Given the description of an element on the screen output the (x, y) to click on. 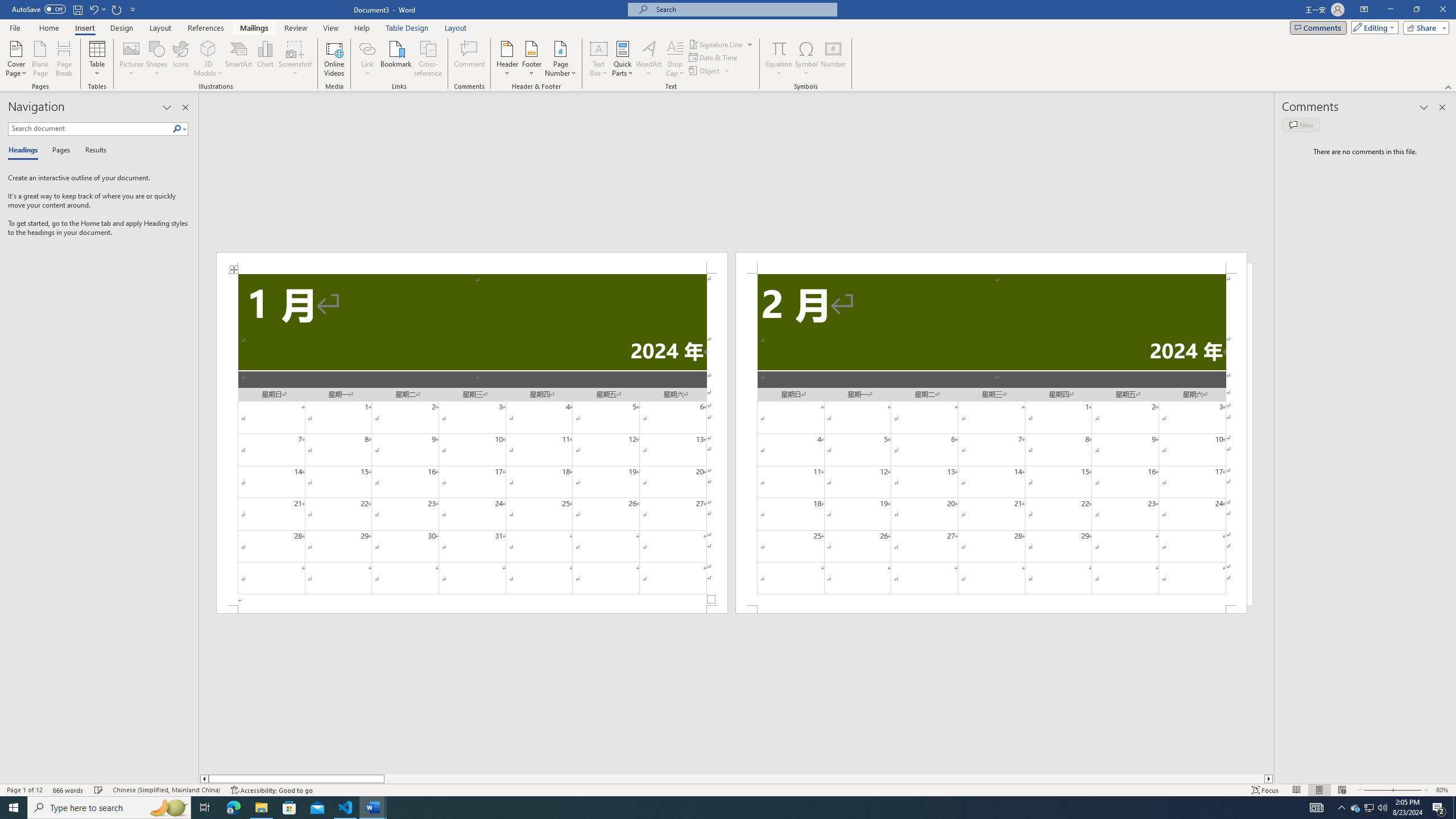
Undo Increase Indent (92, 9)
Accessibility Checker Accessibility: Good to go (271, 790)
Equation (778, 58)
Footer -Section 2- (991, 609)
Microsoft search (742, 9)
SmartArt... (238, 58)
Word Count 666 words (68, 790)
